Given the description of an element on the screen output the (x, y) to click on. 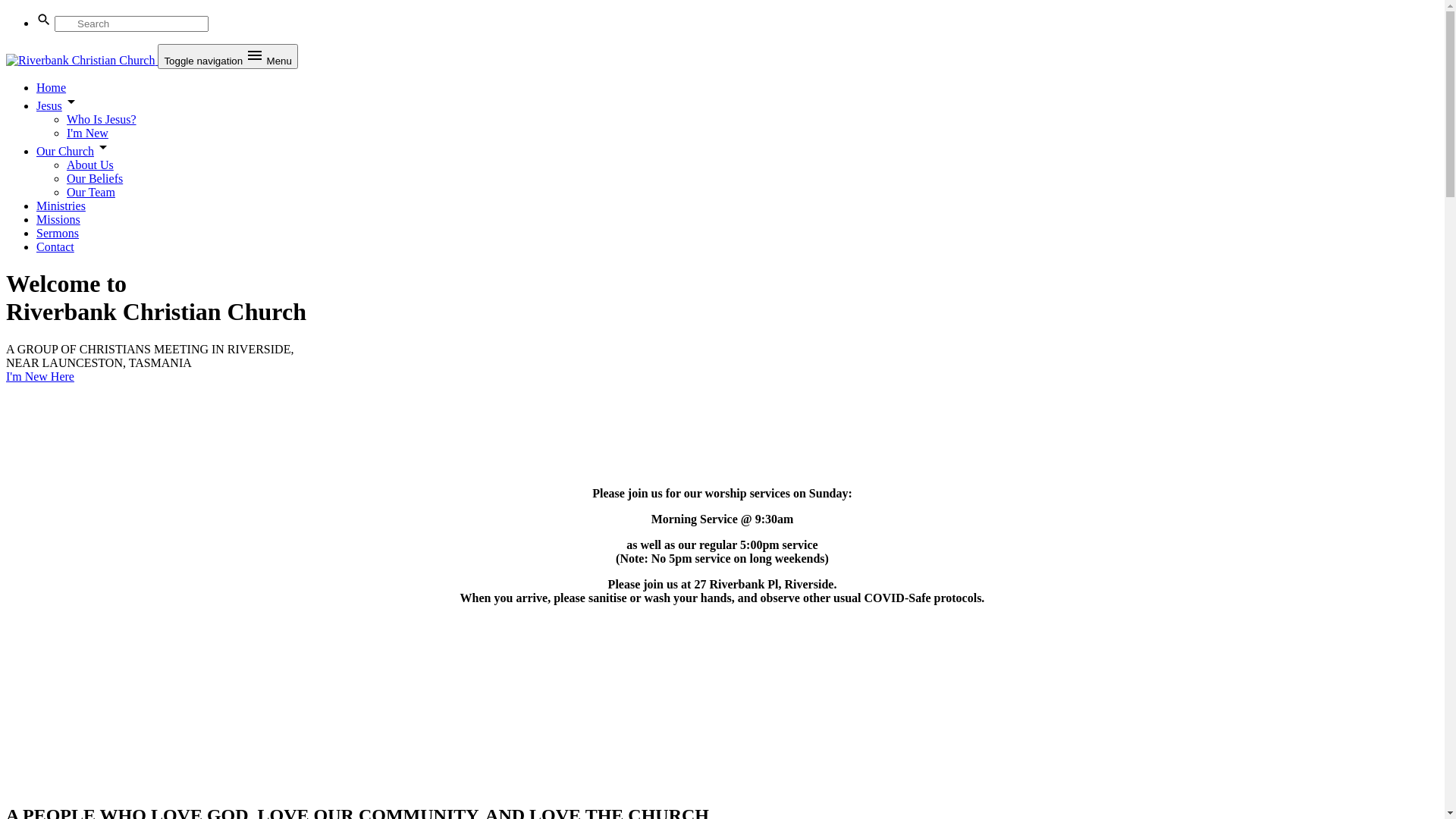
Ministries Element type: text (60, 205)
Contact Element type: text (55, 246)
Toggle navigation Menu Element type: text (227, 56)
Missions Element type: text (58, 219)
About Us Element type: text (89, 164)
Our Church Element type: text (72, 150)
Home Element type: text (50, 87)
Sermons Element type: text (57, 232)
Our Beliefs Element type: text (94, 178)
Jesus Element type: text (56, 105)
I'm New Element type: text (87, 132)
I'm New Here Element type: text (40, 376)
Our Team Element type: text (90, 191)
Who Is Jesus? Element type: text (101, 118)
